Given the description of an element on the screen output the (x, y) to click on. 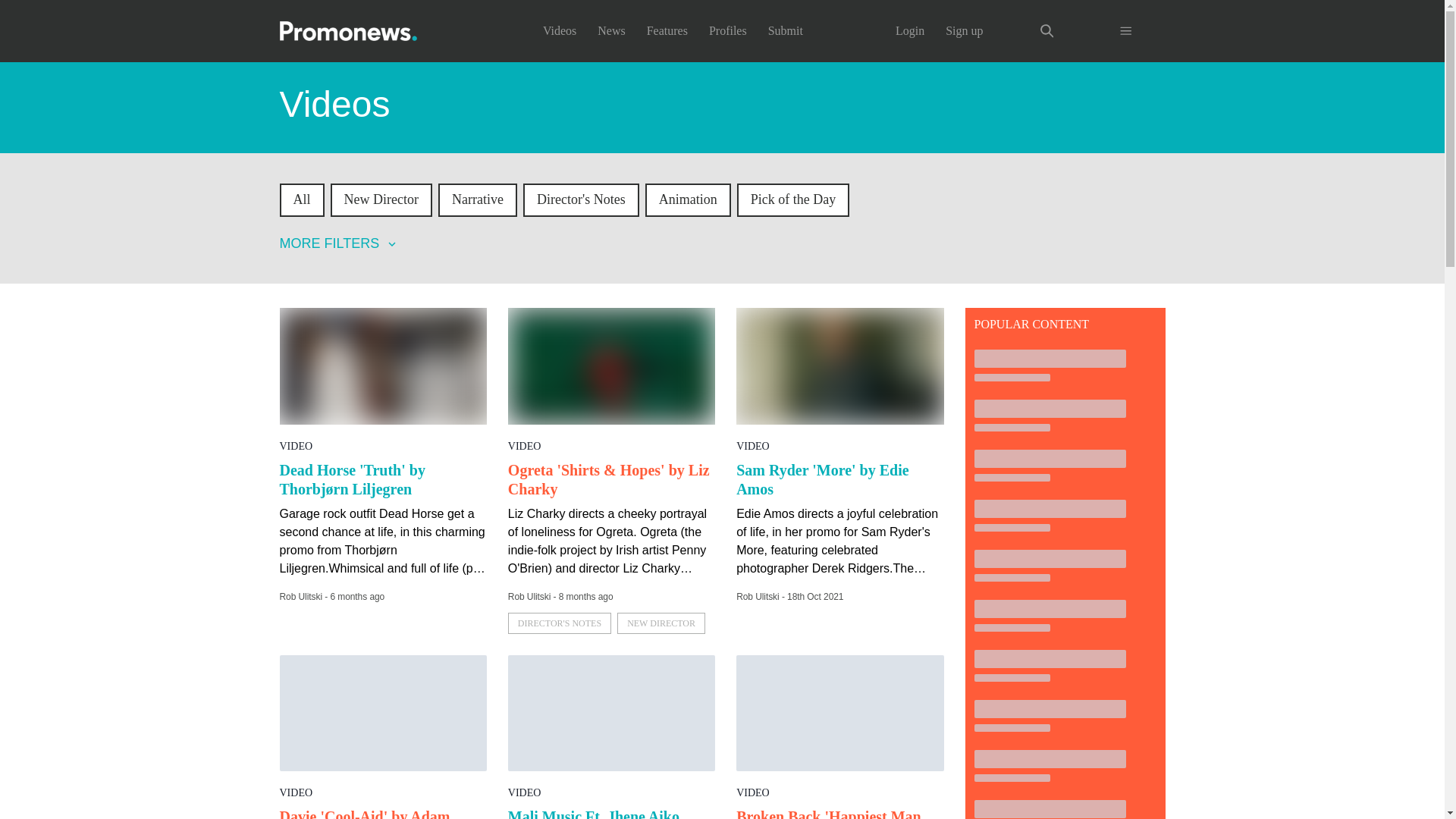
Sign up (963, 31)
Profiles (727, 31)
Features (666, 31)
Videos (559, 31)
Login (909, 31)
News (610, 31)
Submit (785, 31)
